Given the description of an element on the screen output the (x, y) to click on. 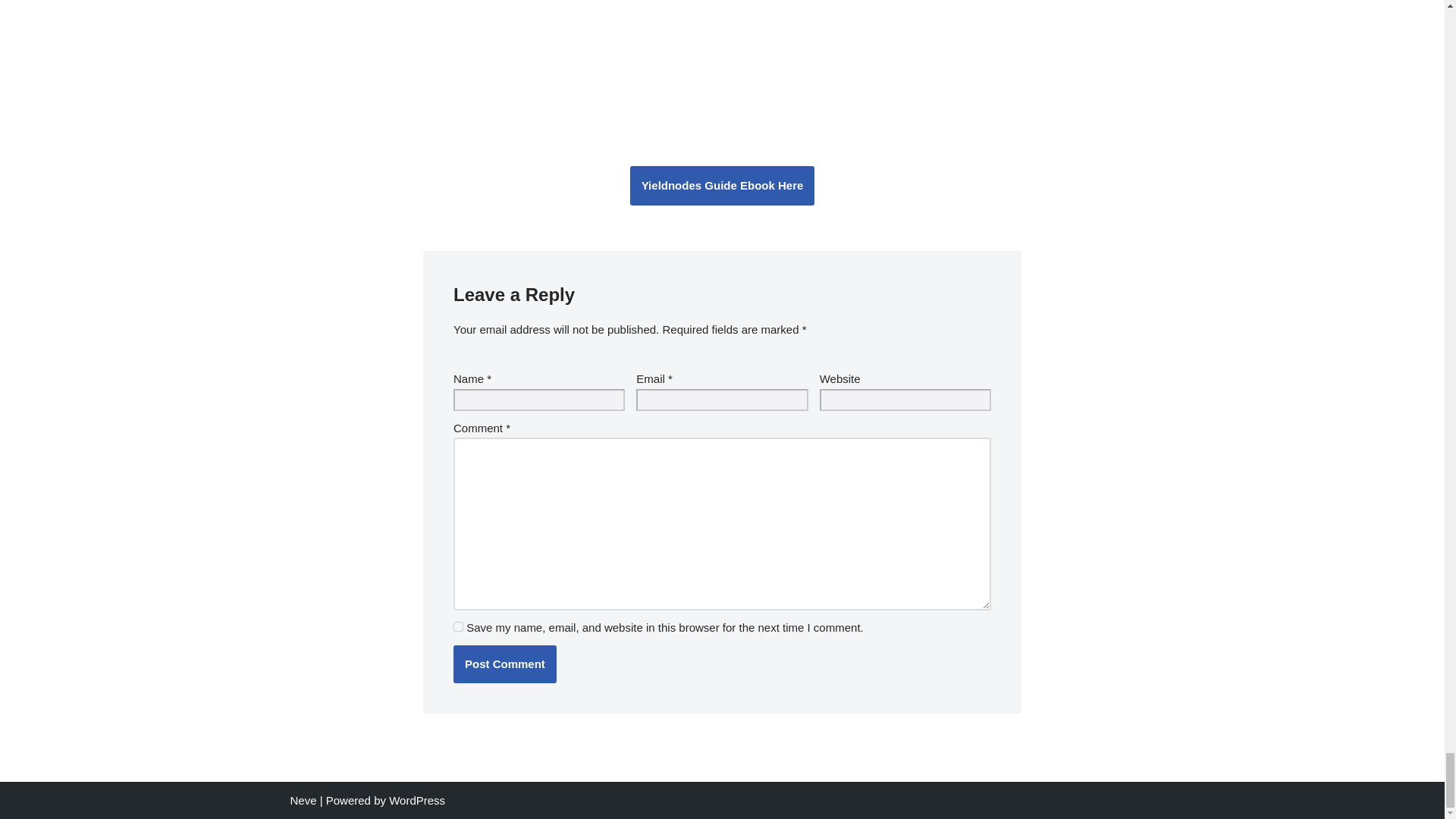
Yieldnodes Guide Ebook Here (722, 185)
WordPress (416, 799)
Neve (302, 799)
Post Comment (504, 663)
Yieldnodes Guide Ebook Here (722, 185)
Yieldnodes Profits With Proof - Yield Nodes Profit Proof (722, 62)
yes (457, 626)
Post Comment (504, 663)
